Given the description of an element on the screen output the (x, y) to click on. 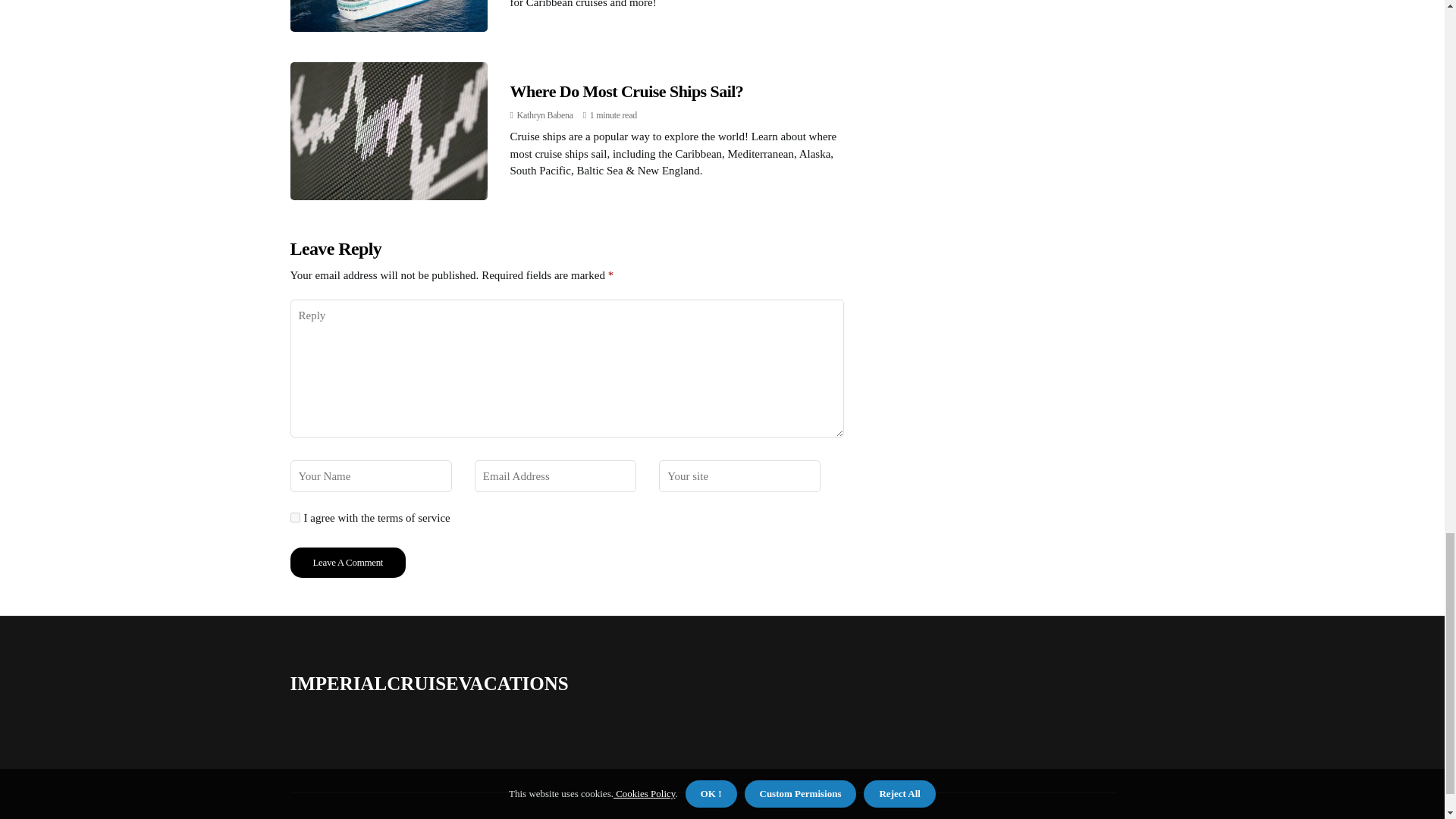
Leave a Comment (347, 562)
Leave a Comment (347, 562)
yes (294, 517)
Posts by Kathryn Babena (544, 114)
Kathryn Babena (544, 114)
Where Do Most Cruise Ships Sail? (625, 90)
